Given the description of an element on the screen output the (x, y) to click on. 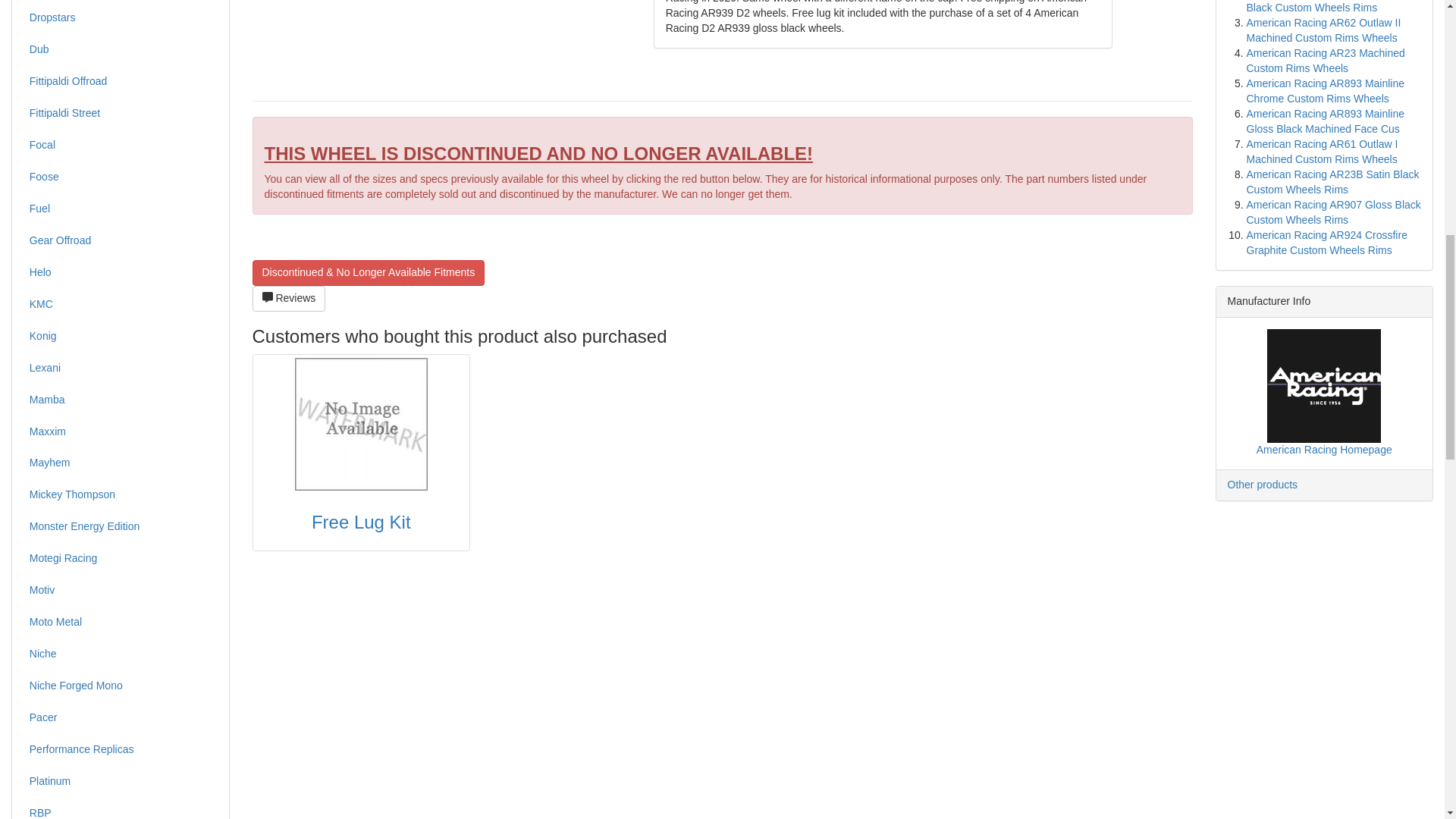
Free Lug Kit (361, 423)
American Racing (1323, 386)
